Given the description of an element on the screen output the (x, y) to click on. 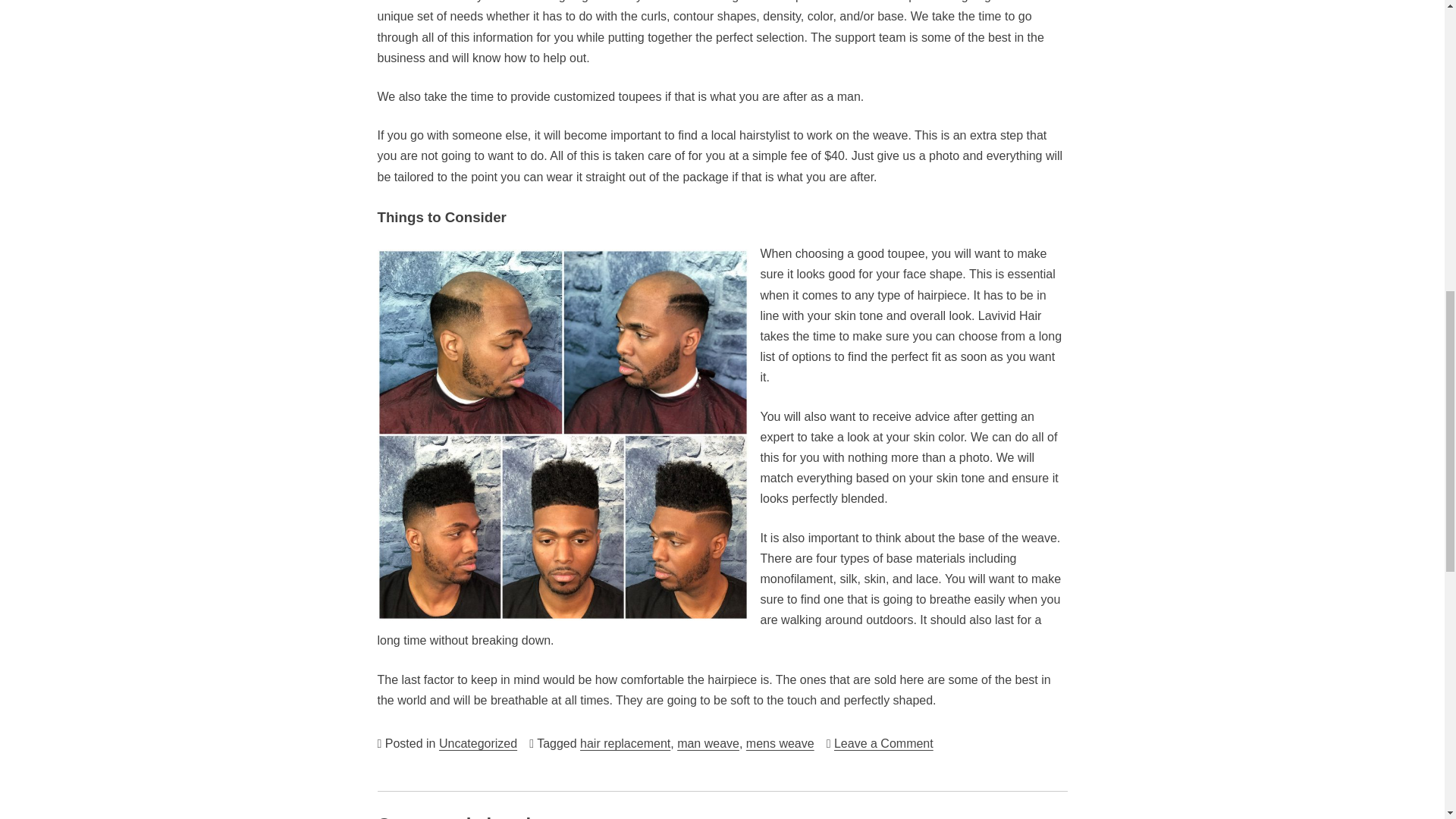
mens weave (779, 743)
Communal church (457, 816)
Uncategorized (883, 743)
hair replacement (477, 743)
man weave (624, 743)
